Given the description of an element on the screen output the (x, y) to click on. 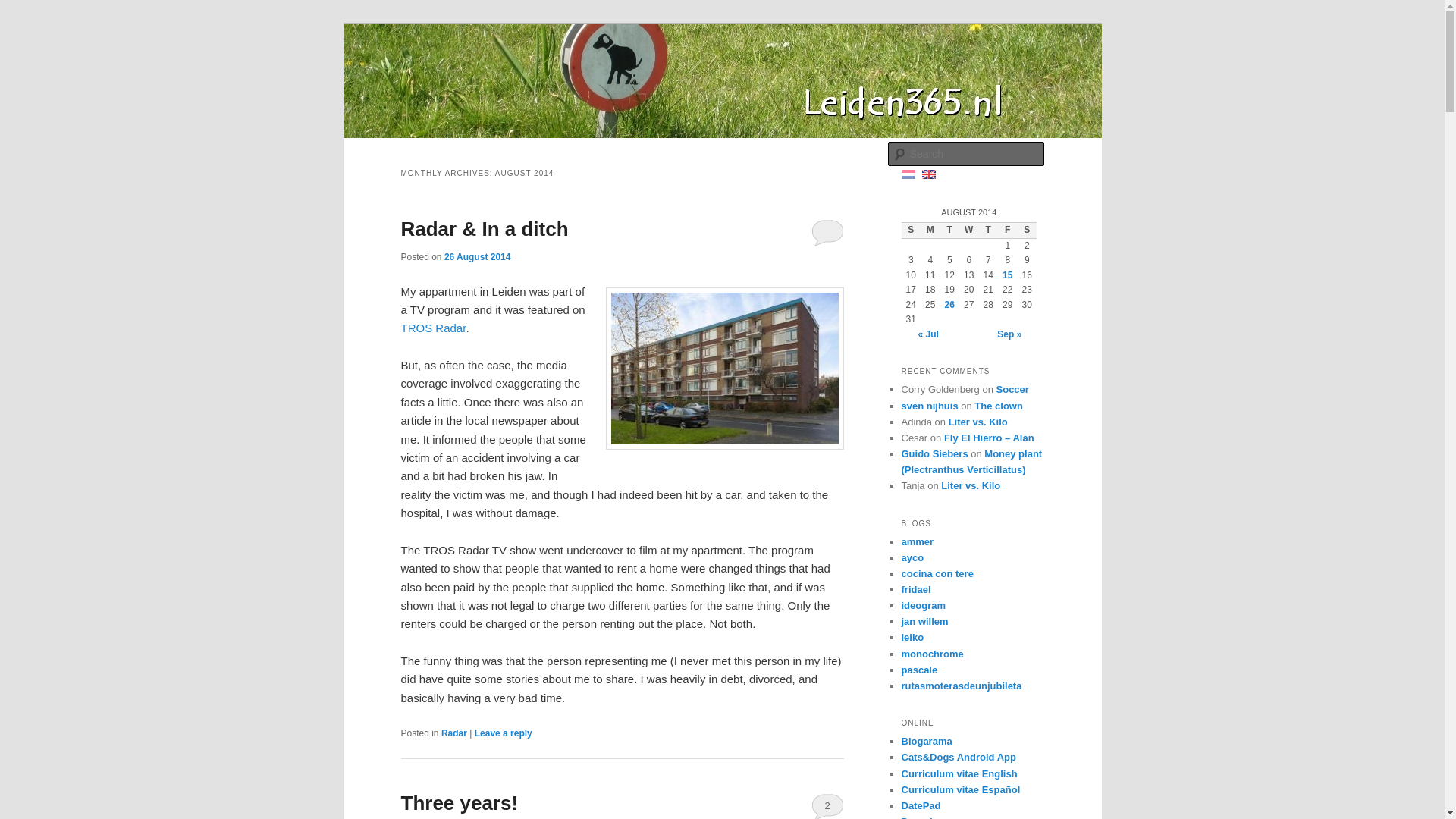
15 (1007, 275)
Tuesday (949, 230)
10:53 (477, 256)
monochrome (931, 654)
26 August 2014 (477, 256)
Guido Siebers (934, 453)
jan willem (924, 621)
sven nijhuis (929, 405)
Soccer (1012, 389)
Saturday (1026, 230)
Radar (454, 733)
The clown (998, 405)
leiko (912, 636)
fridael (915, 589)
Sunday (910, 230)
